Given the description of an element on the screen output the (x, y) to click on. 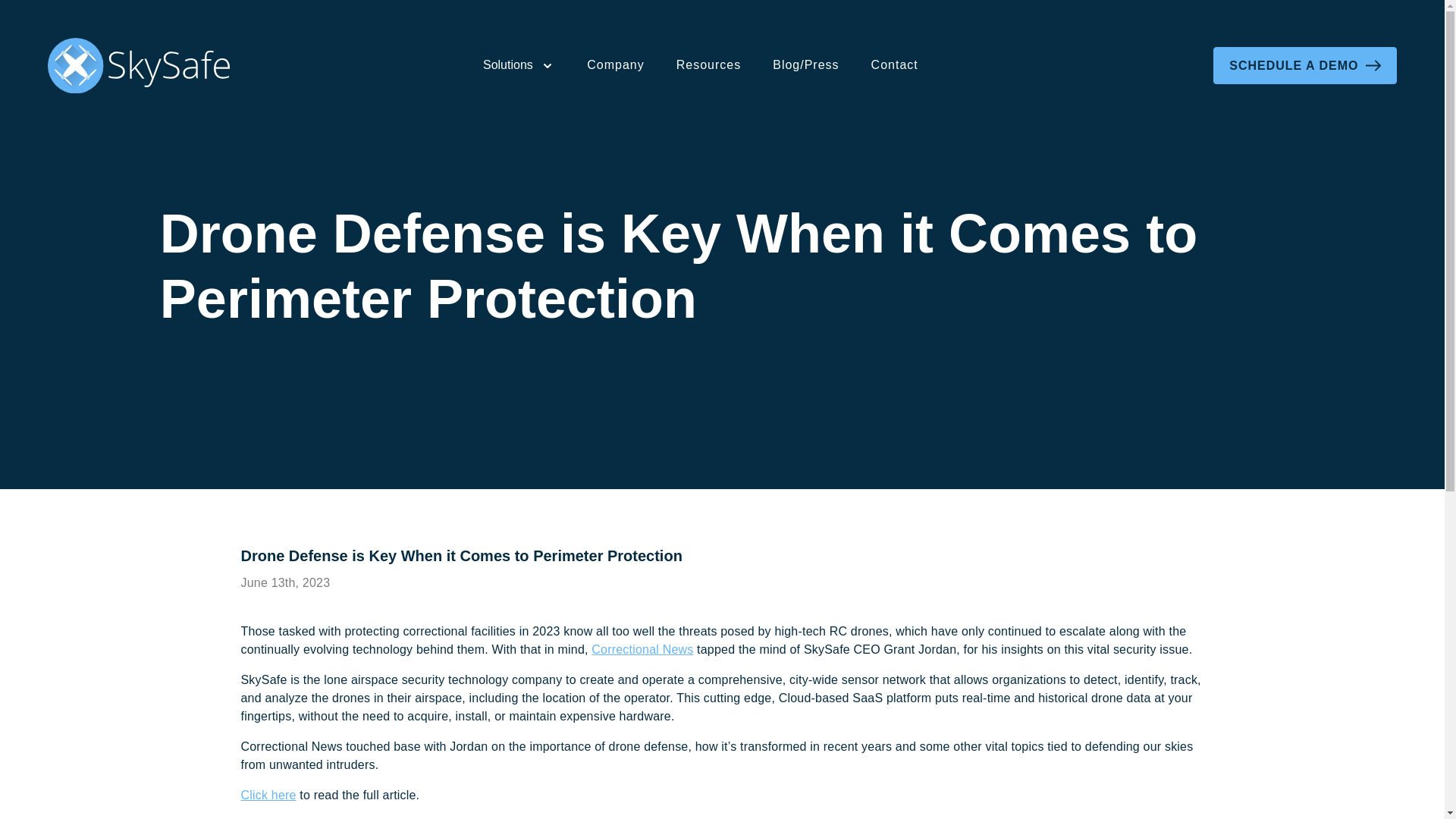
Correctional News (642, 649)
Company (615, 64)
Contact (894, 64)
Resources (708, 64)
Click here (269, 794)
Solutions (518, 65)
SCHEDULE A DEMO (1304, 65)
